Given the description of an element on the screen output the (x, y) to click on. 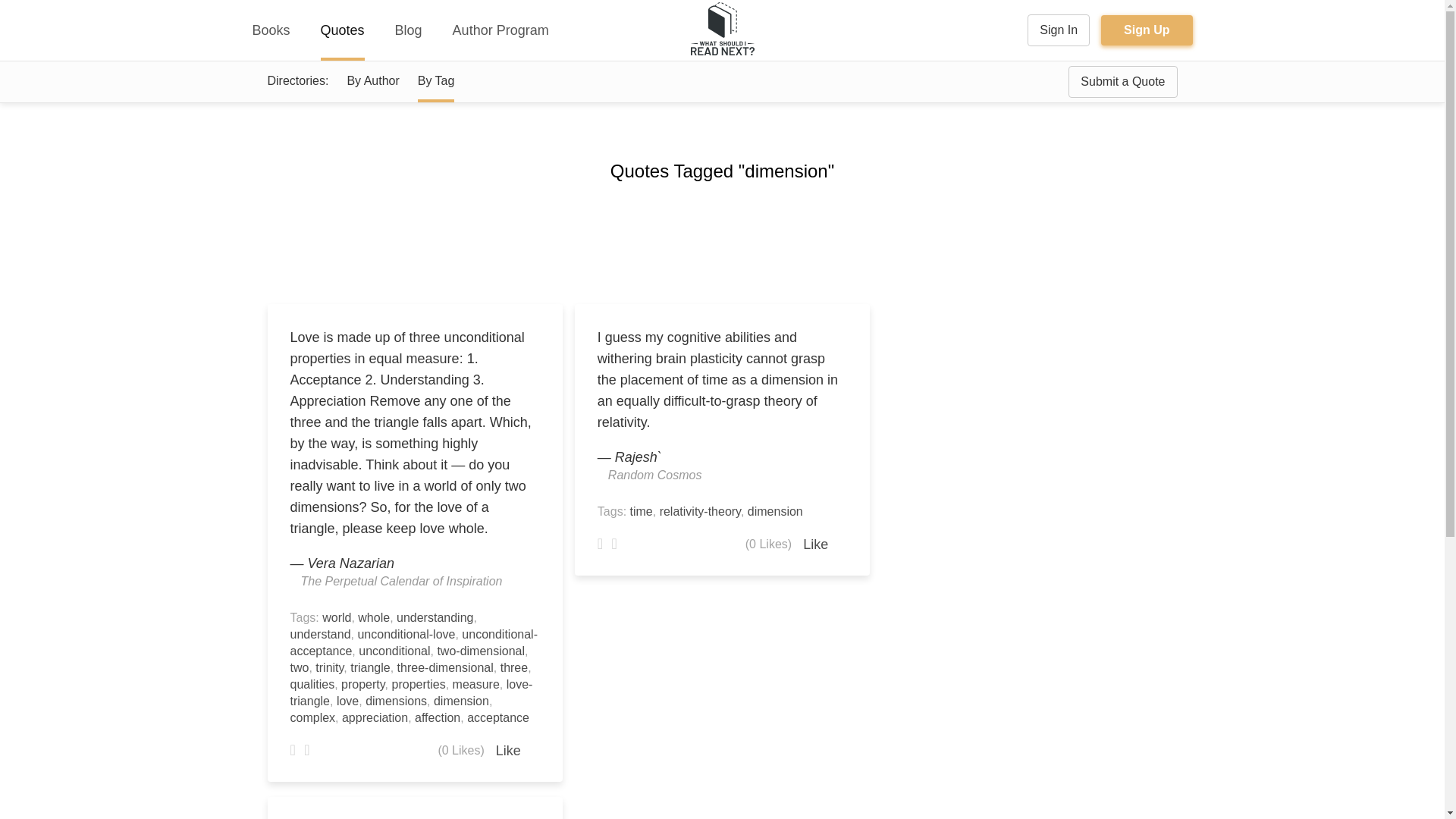
triangle (370, 667)
two-dimensional (480, 650)
properties (418, 684)
property (362, 684)
By Tag (435, 80)
world (335, 617)
dimensions (395, 700)
Books (270, 30)
unconditional (393, 650)
unconditional-acceptance (413, 642)
